Given the description of an element on the screen output the (x, y) to click on. 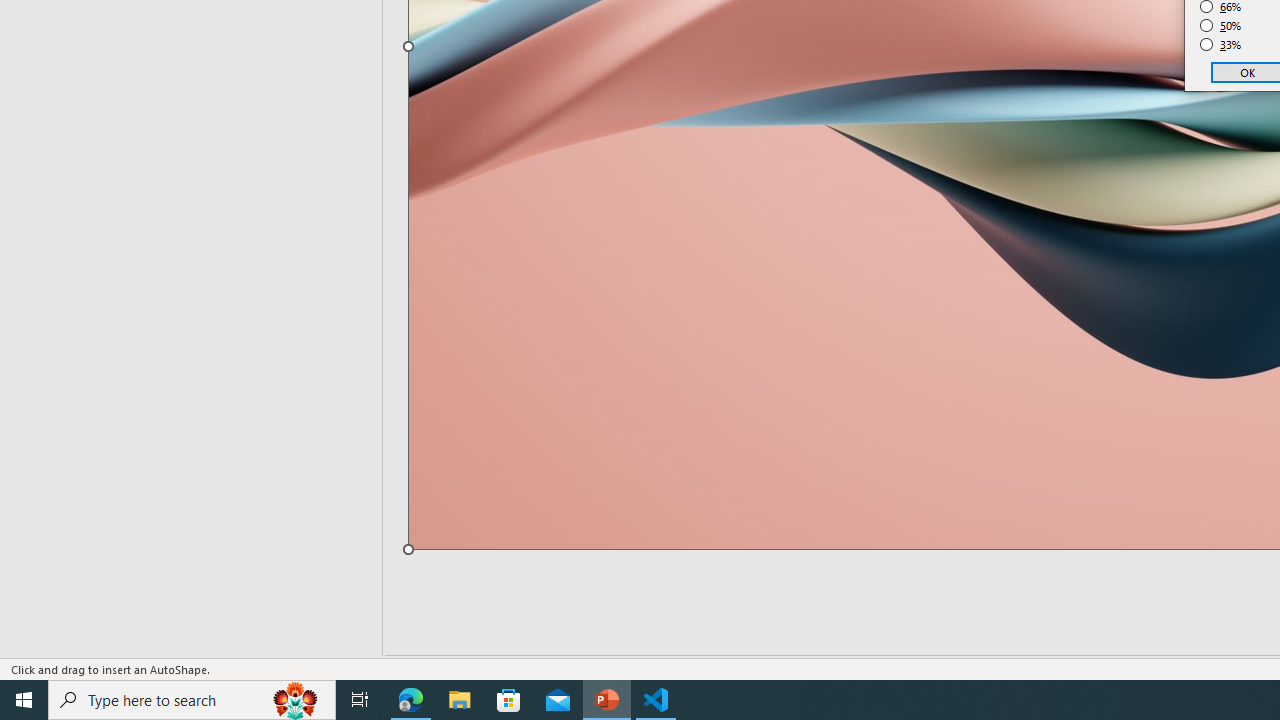
50% (1221, 25)
33% (1221, 44)
